Given the description of an element on the screen output the (x, y) to click on. 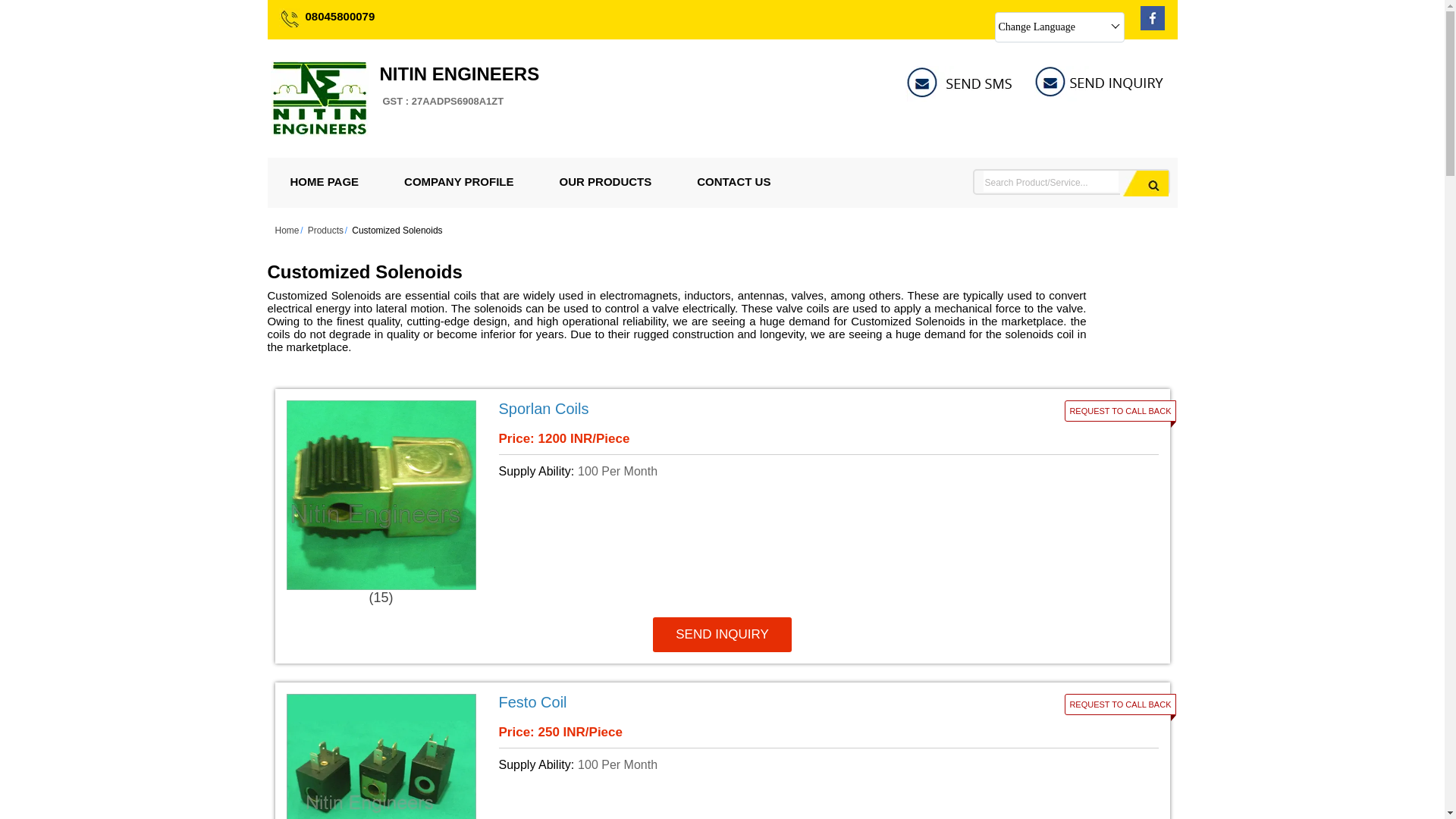
submit (458, 85)
Festo Coil (1143, 183)
COMPANY PROFILE (716, 702)
Facebook (458, 181)
Supply Ability: 100 Per Month (1152, 25)
OUR PRODUCTS (657, 764)
Supply Ability: 100 Per Month (606, 181)
submit (657, 471)
HOME PAGE (1143, 183)
